Given the description of an element on the screen output the (x, y) to click on. 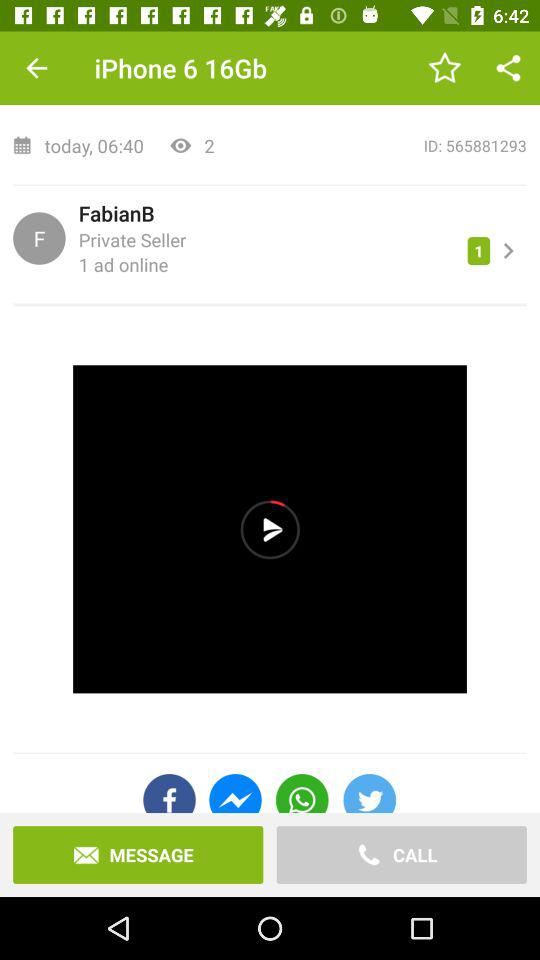
open the item next to the iphone 6 16gb (36, 68)
